Given the description of an element on the screen output the (x, y) to click on. 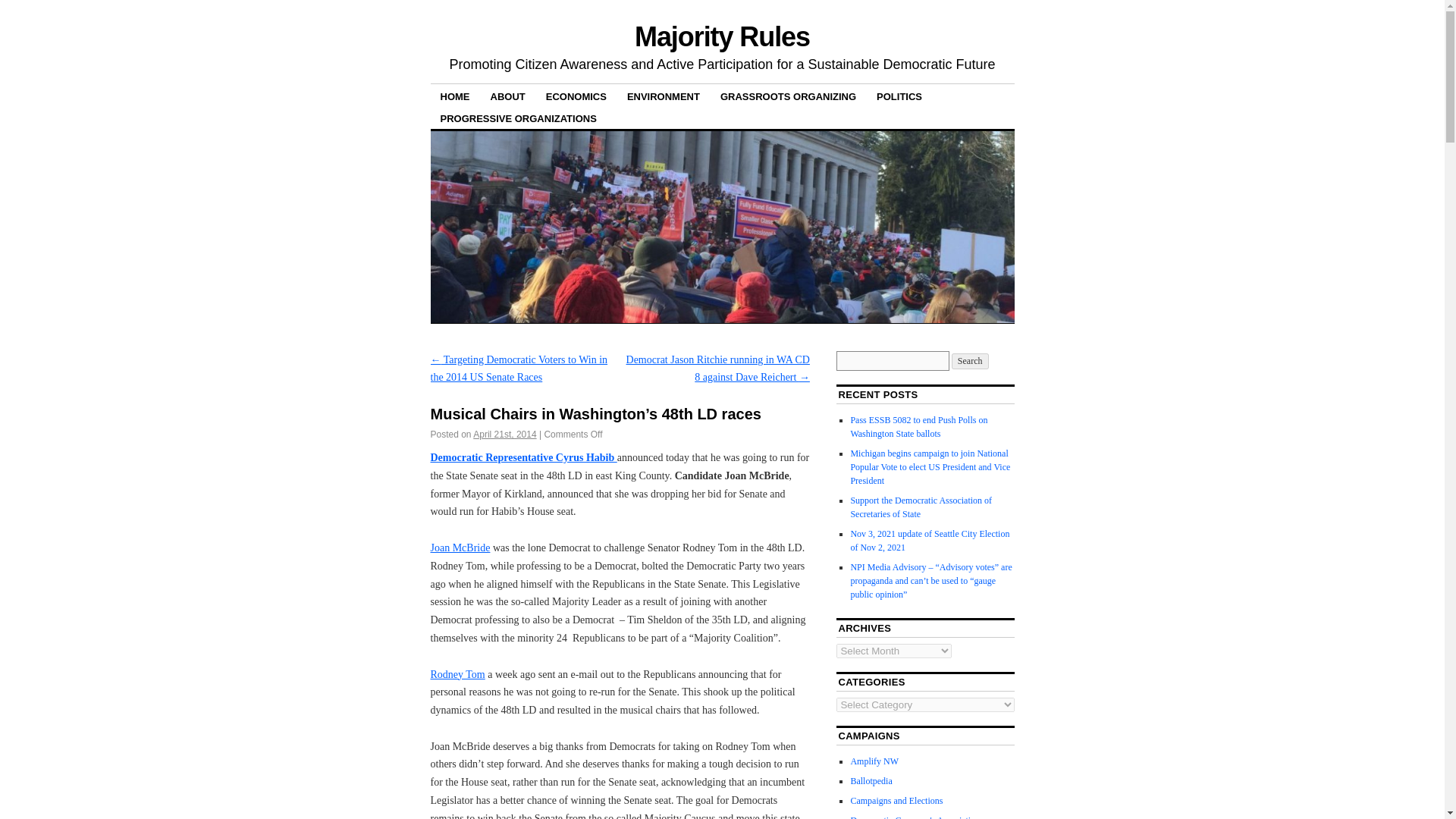
POLITICS (898, 96)
HOME (455, 96)
Amplify NW (874, 760)
ABOUT (507, 96)
ENVIRONMENT (663, 96)
Joan McBride (460, 547)
Majority Rules (721, 36)
Democratic Representative Cyrus Habib (523, 457)
Search (970, 360)
